Given the description of an element on the screen output the (x, y) to click on. 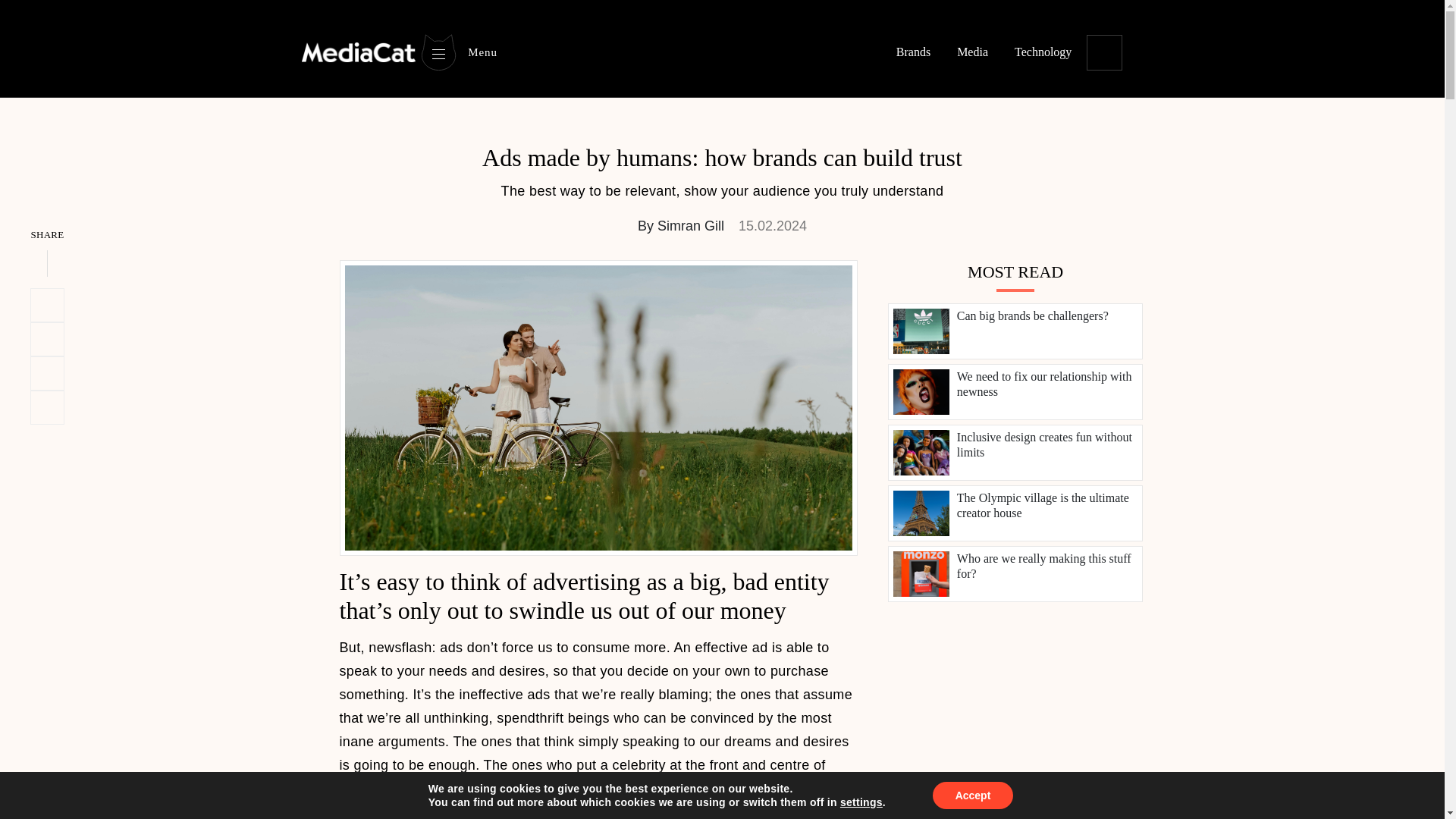
Share on Facebook! (47, 373)
Menu (457, 52)
Share on LinkedIn! (47, 339)
Tweet this! (47, 305)
Share via Email! (47, 407)
